Given the description of an element on the screen output the (x, y) to click on. 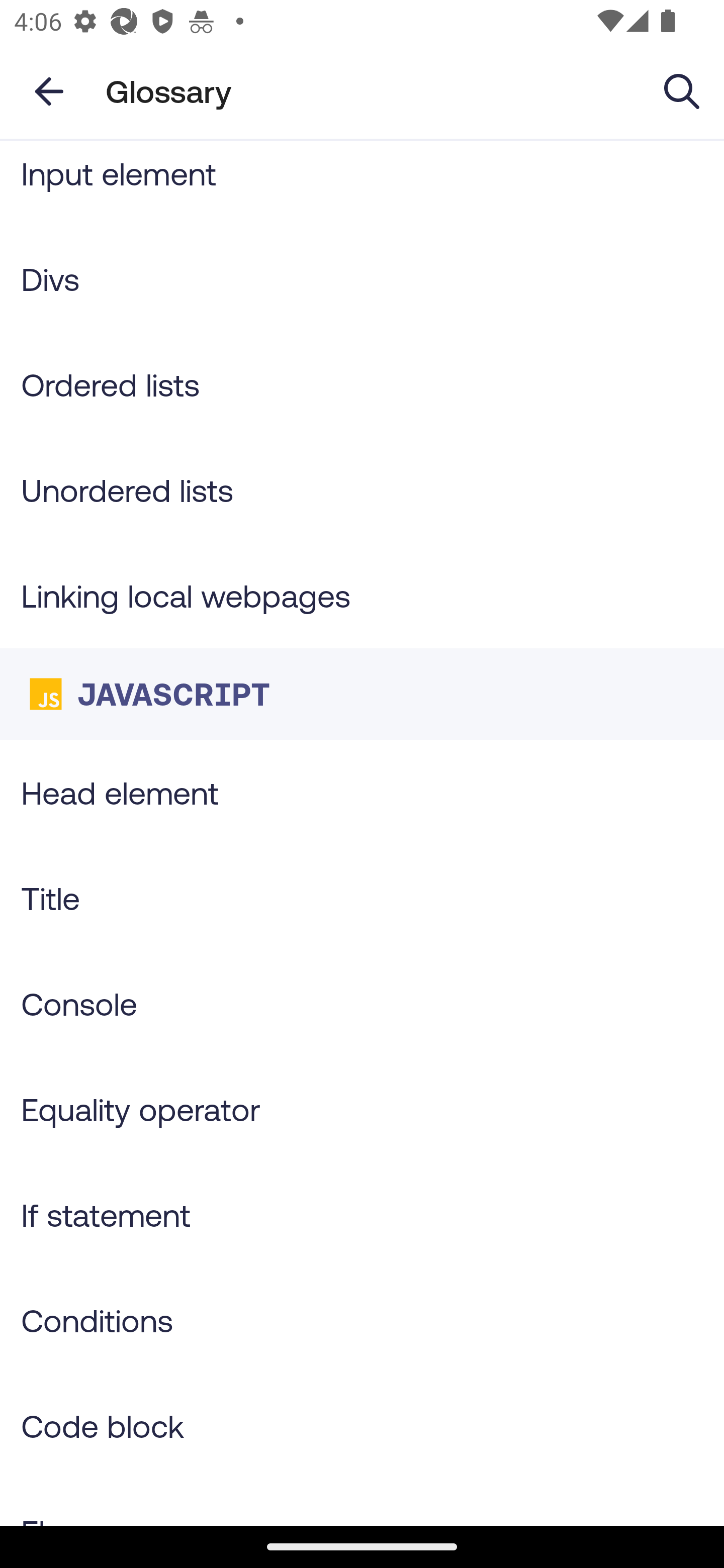
Navigate up (49, 91)
Search Glossary (681, 90)
Input element (362, 183)
Divs (362, 278)
Ordered lists (362, 384)
Unordered lists (362, 489)
Linking local webpages (362, 594)
JAVASCRIPT (362, 693)
Head element (362, 792)
Title (362, 897)
Console (362, 1003)
Equality operator (362, 1108)
If statement (362, 1213)
Conditions (362, 1319)
Code block  (362, 1425)
